Given the description of an element on the screen output the (x, y) to click on. 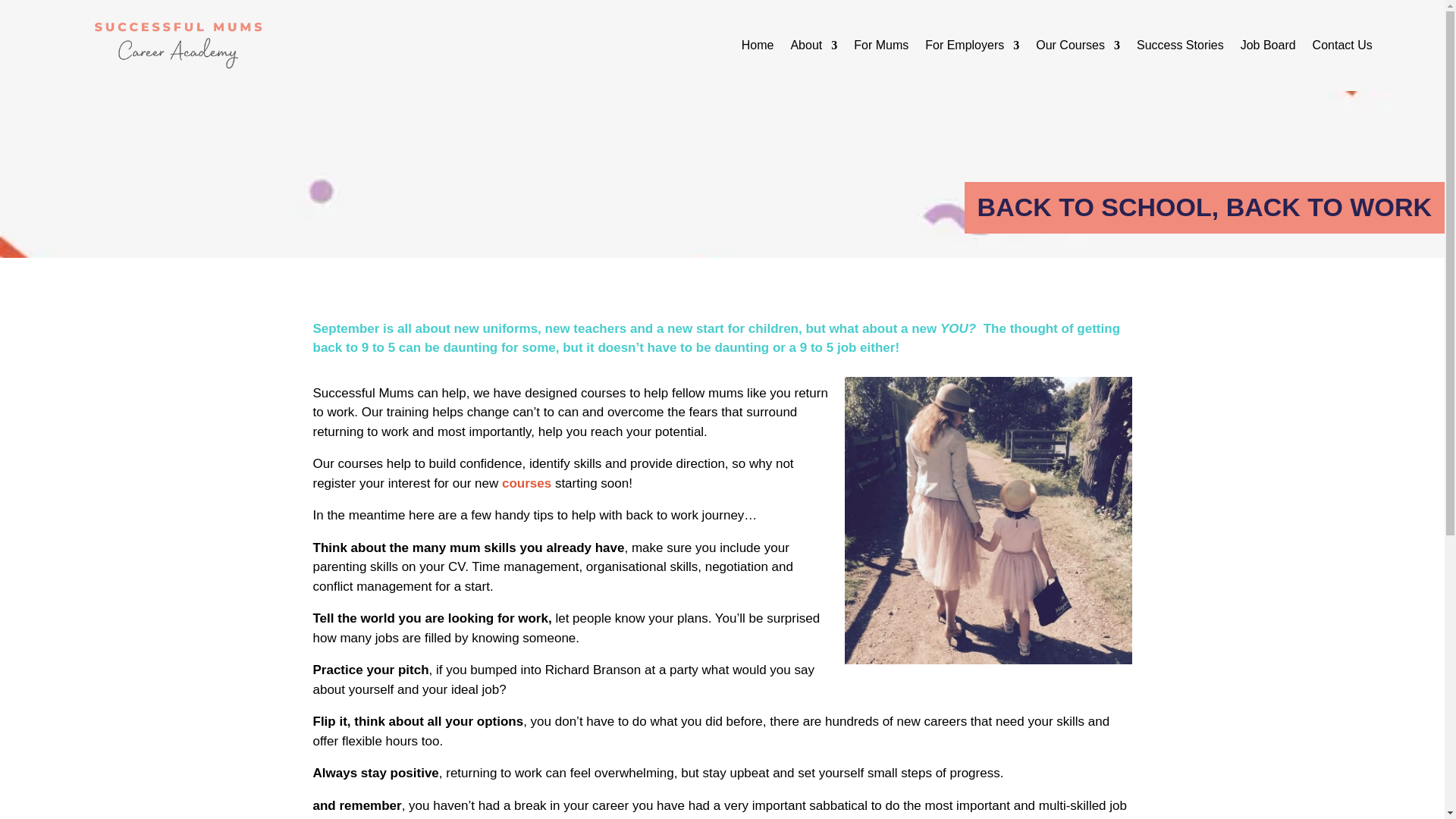
Our Courses (1077, 48)
About (813, 48)
Success Stories (1180, 48)
Contact Us (1343, 48)
RGB-Full-SMCA-FULL (177, 45)
courses (526, 482)
For Employers (971, 48)
For Mums (880, 48)
Job Board (1267, 48)
Home (757, 48)
